Given the description of an element on the screen output the (x, y) to click on. 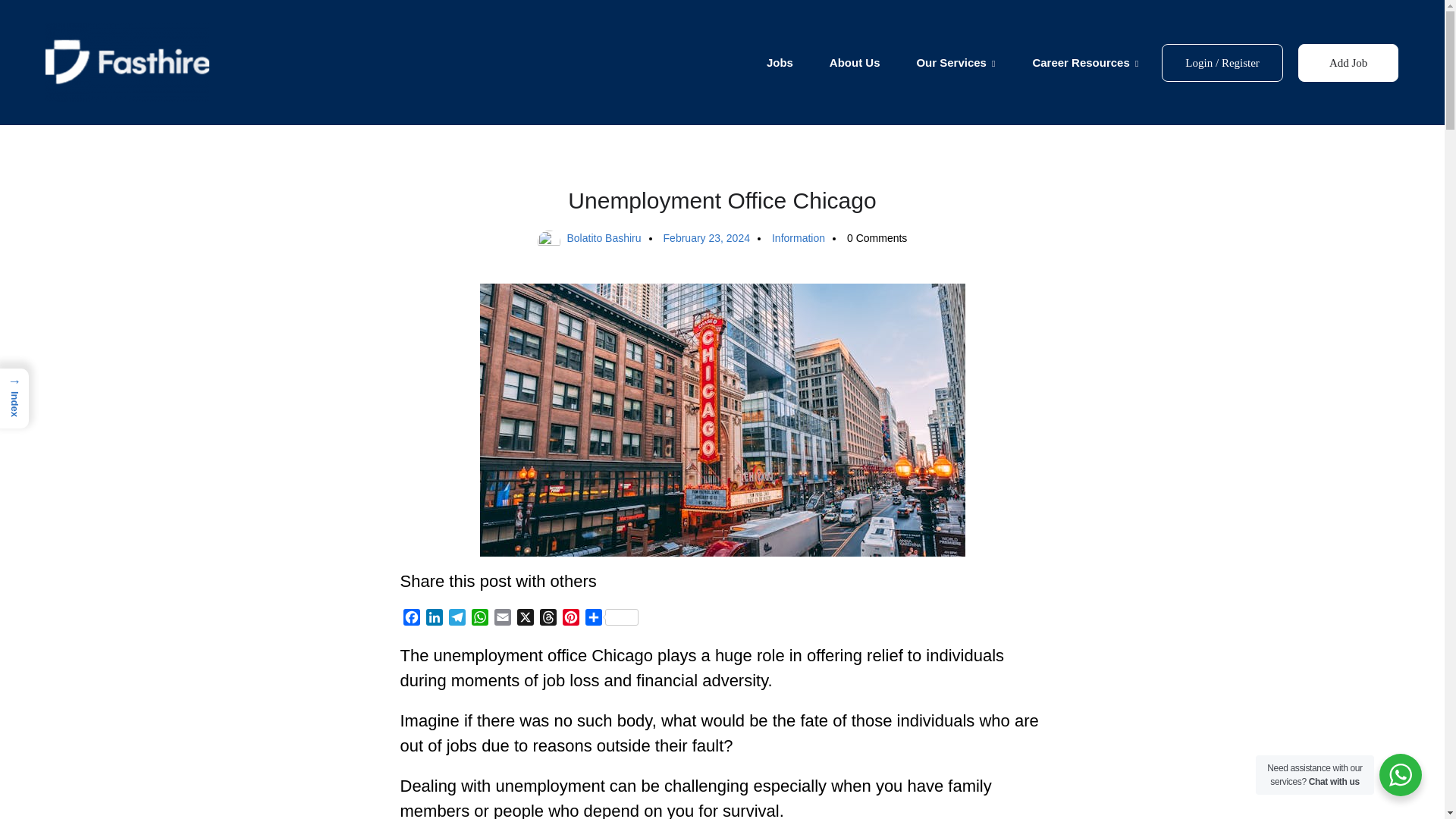
Telegram (456, 619)
Threads (548, 619)
X (525, 619)
Pinterest (570, 619)
WhatsApp (480, 619)
Email (502, 619)
Career Resources (1085, 62)
About Us (854, 62)
Our Services (955, 62)
Facebook (411, 619)
LinkedIn (434, 619)
